Given the description of an element on the screen output the (x, y) to click on. 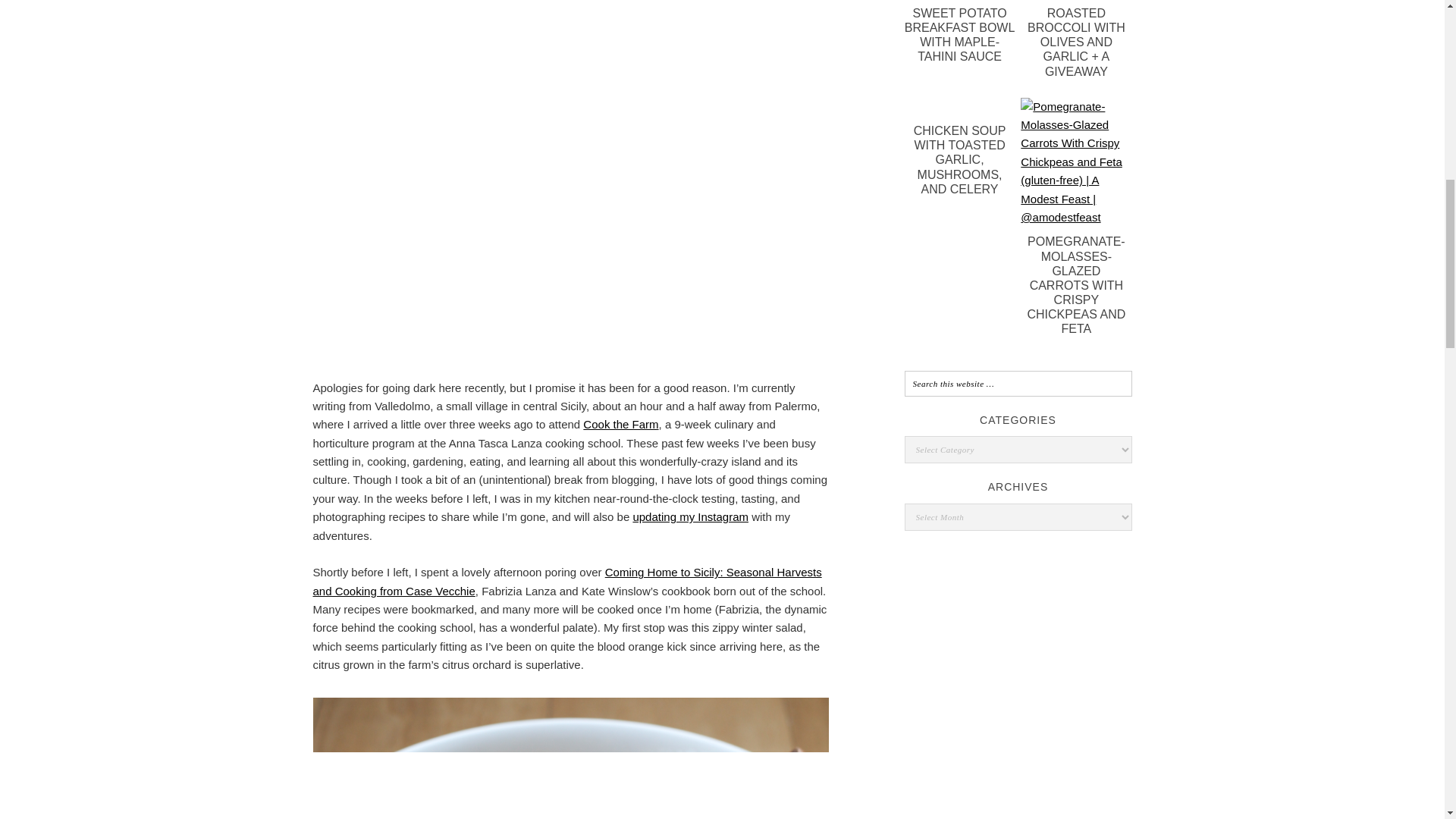
Cook the Farm (620, 423)
updating my Instagram (689, 516)
